Given the description of an element on the screen output the (x, y) to click on. 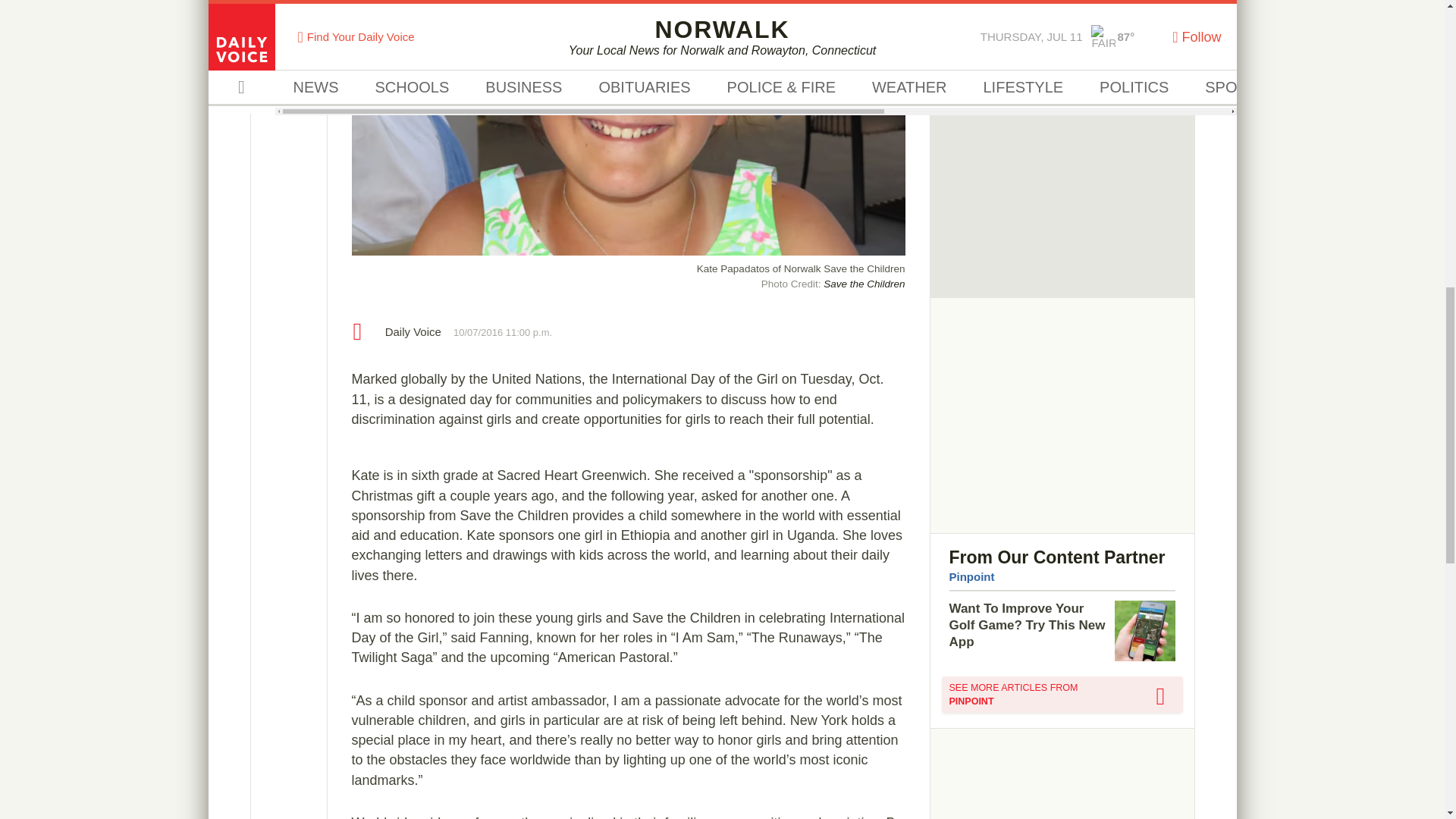
More from Pinpoint (1062, 694)
